Given the description of an element on the screen output the (x, y) to click on. 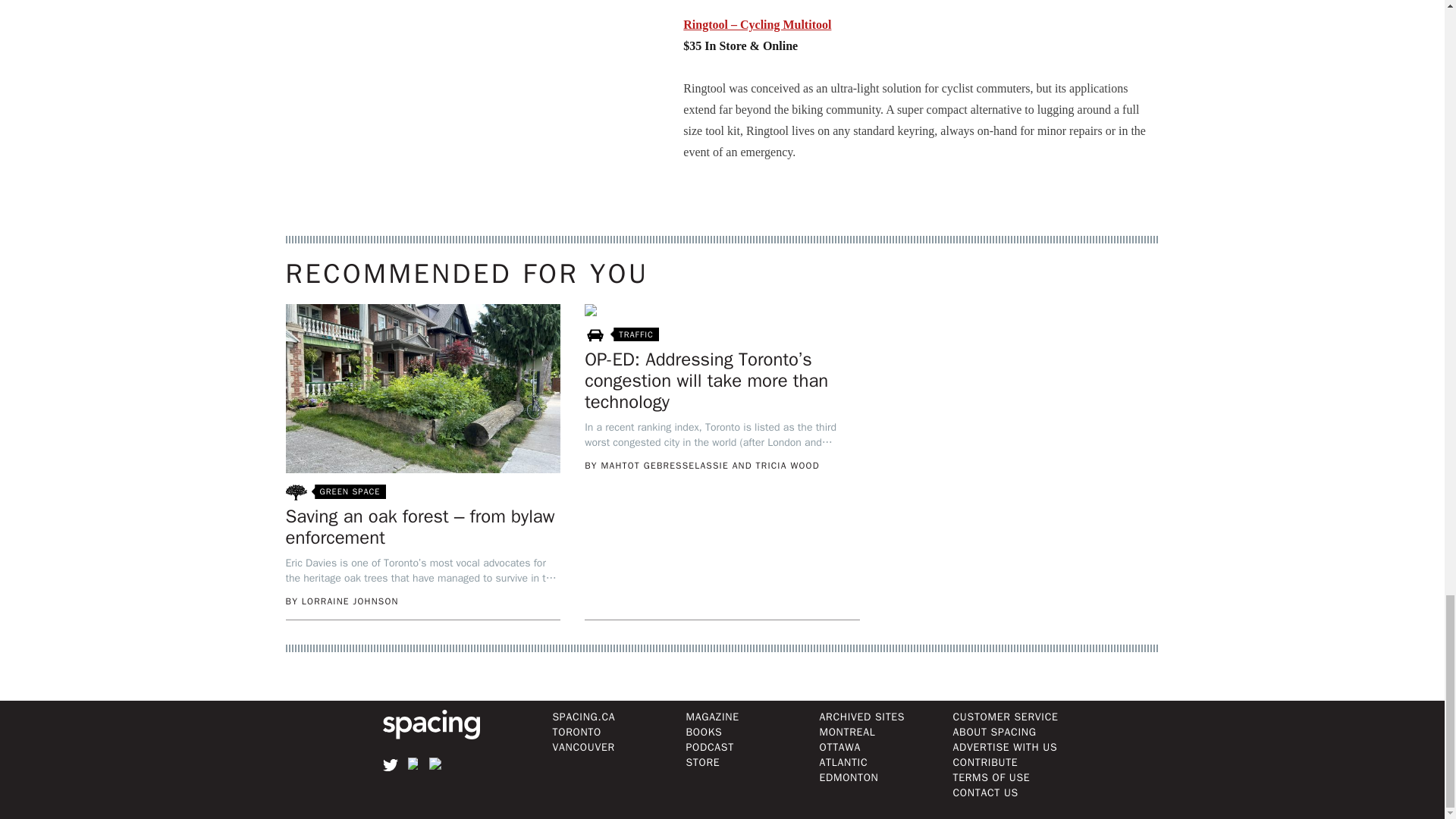
View all posts by Mahtot Gebresselassie and Tricia Wood (708, 465)
View all posts by Lorraine Johnson (349, 601)
